Given the description of an element on the screen output the (x, y) to click on. 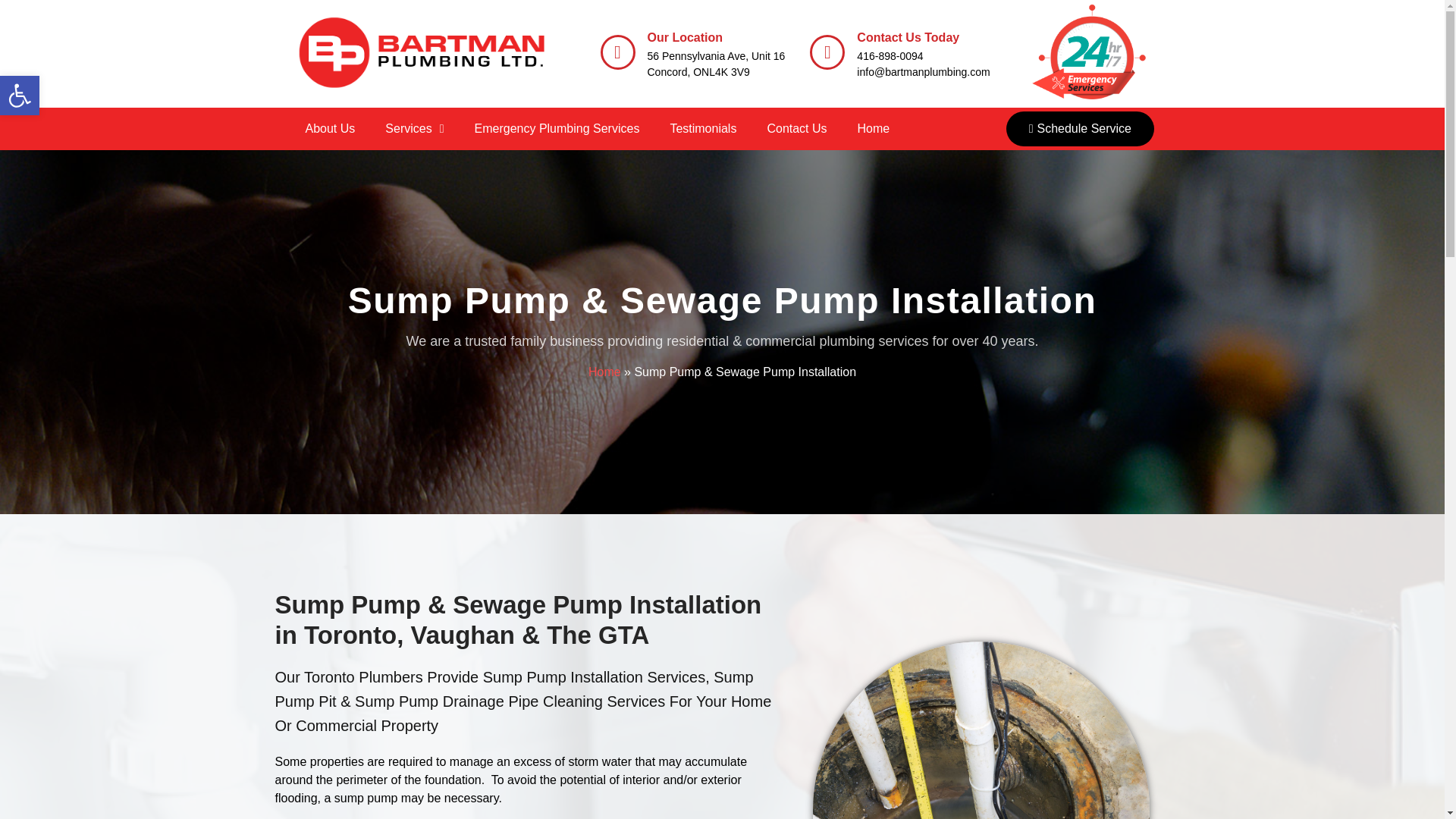
Services (413, 128)
Testimonials (702, 128)
Emergency Plumbing Services (557, 128)
Contact Us (796, 128)
About Us (329, 128)
